Given the description of an element on the screen output the (x, y) to click on. 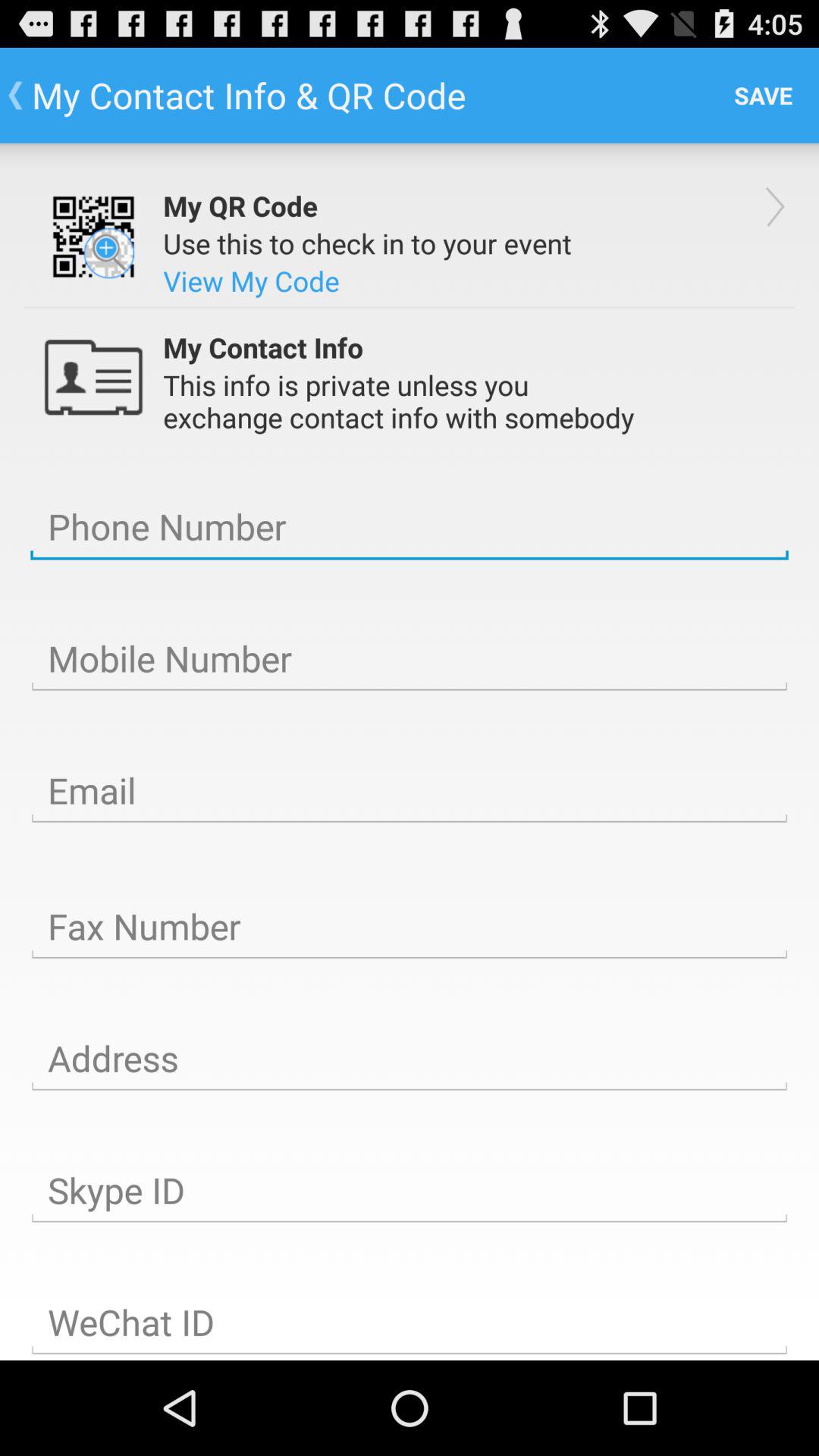
enter contact 's email (409, 790)
